Given the description of an element on the screen output the (x, y) to click on. 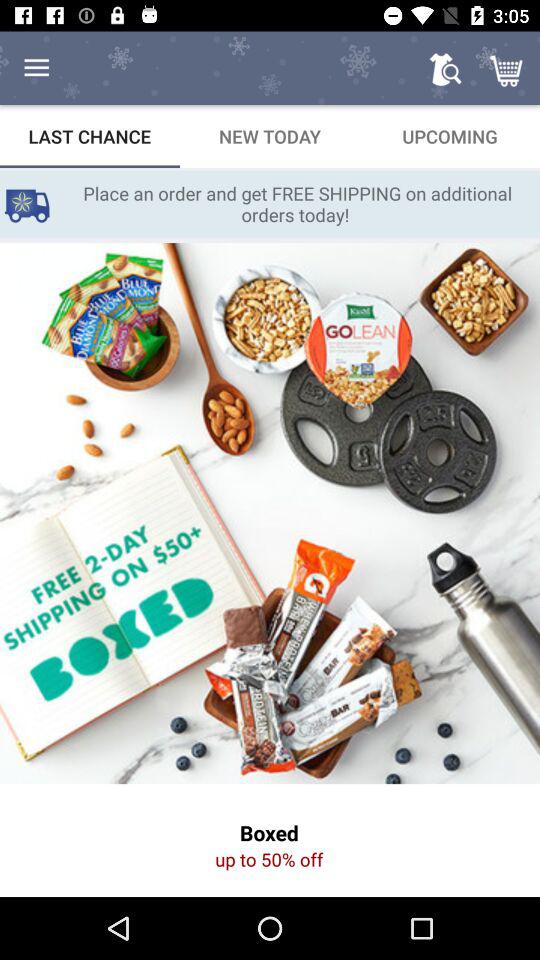
turn off the item above the last chance icon (36, 68)
